Given the description of an element on the screen output the (x, y) to click on. 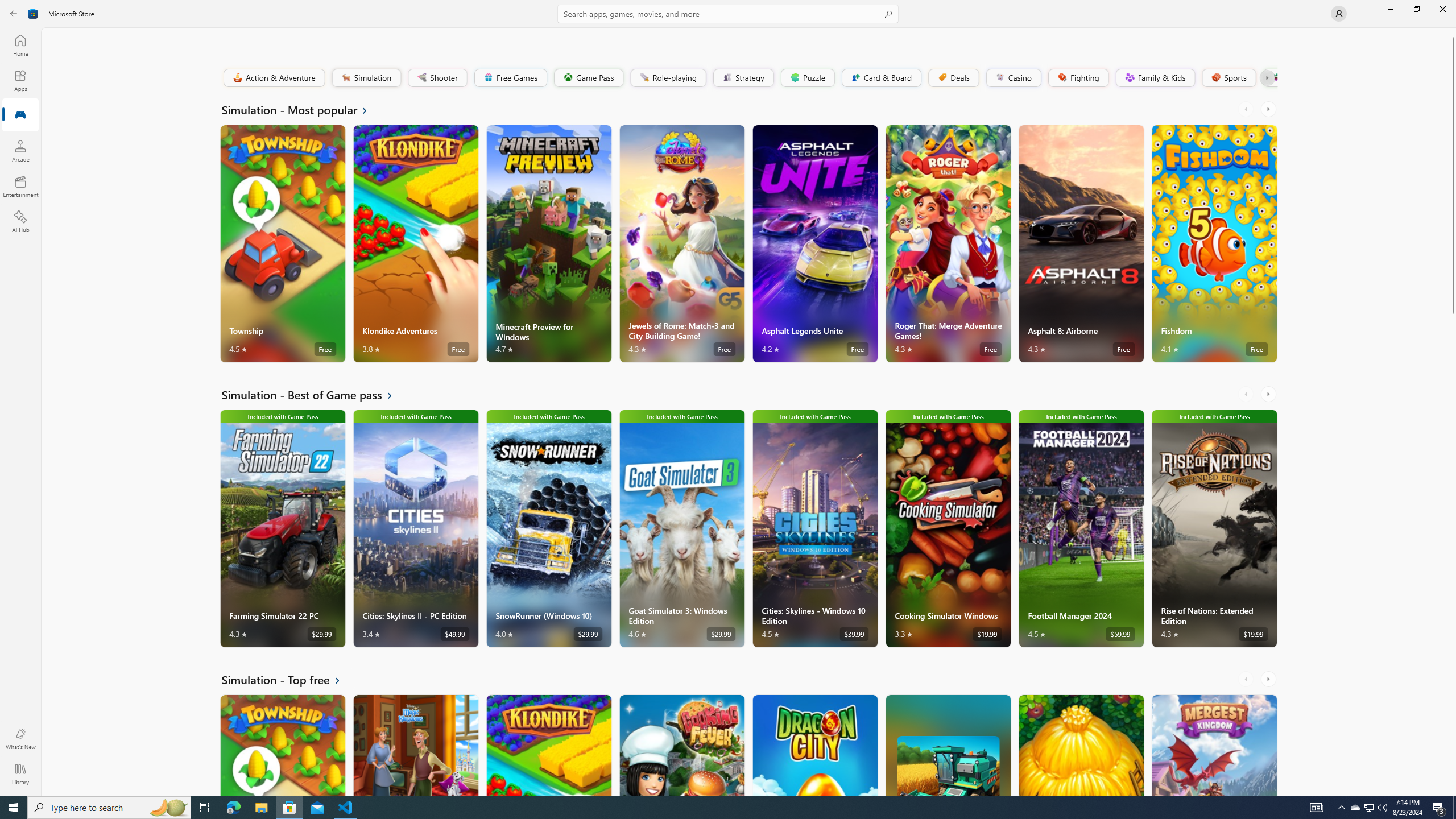
Family & Kids (1154, 77)
What's New (20, 738)
Action & Adventure (273, 77)
Minimize Microsoft Store (1390, 9)
Close Microsoft Store (1442, 9)
Strategy (742, 77)
Card & Board (880, 77)
Restore Microsoft Store (1416, 9)
Deals (952, 77)
